Given the description of an element on the screen output the (x, y) to click on. 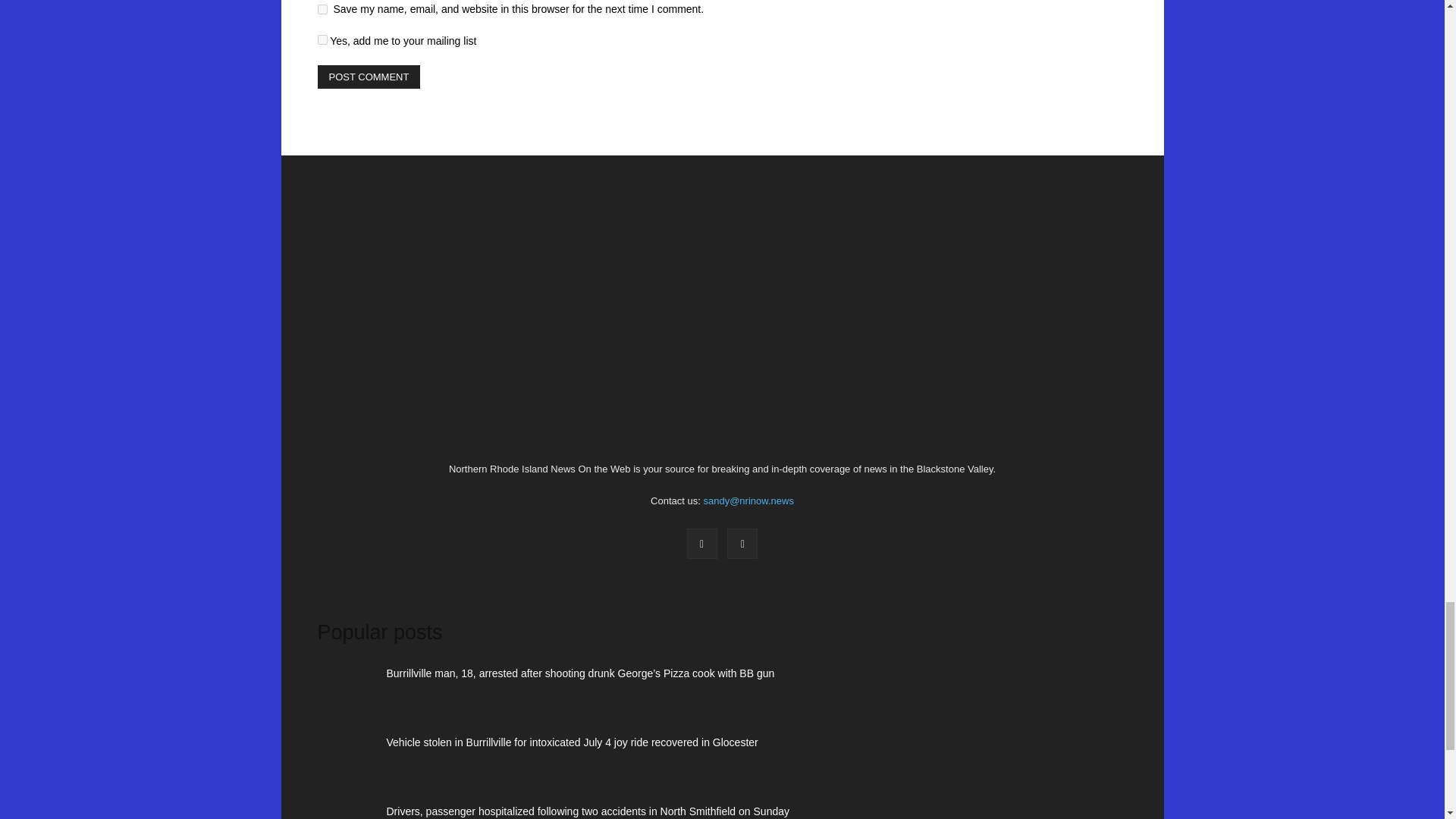
yes (321, 9)
1 (321, 40)
Post Comment (368, 76)
